Given the description of an element on the screen output the (x, y) to click on. 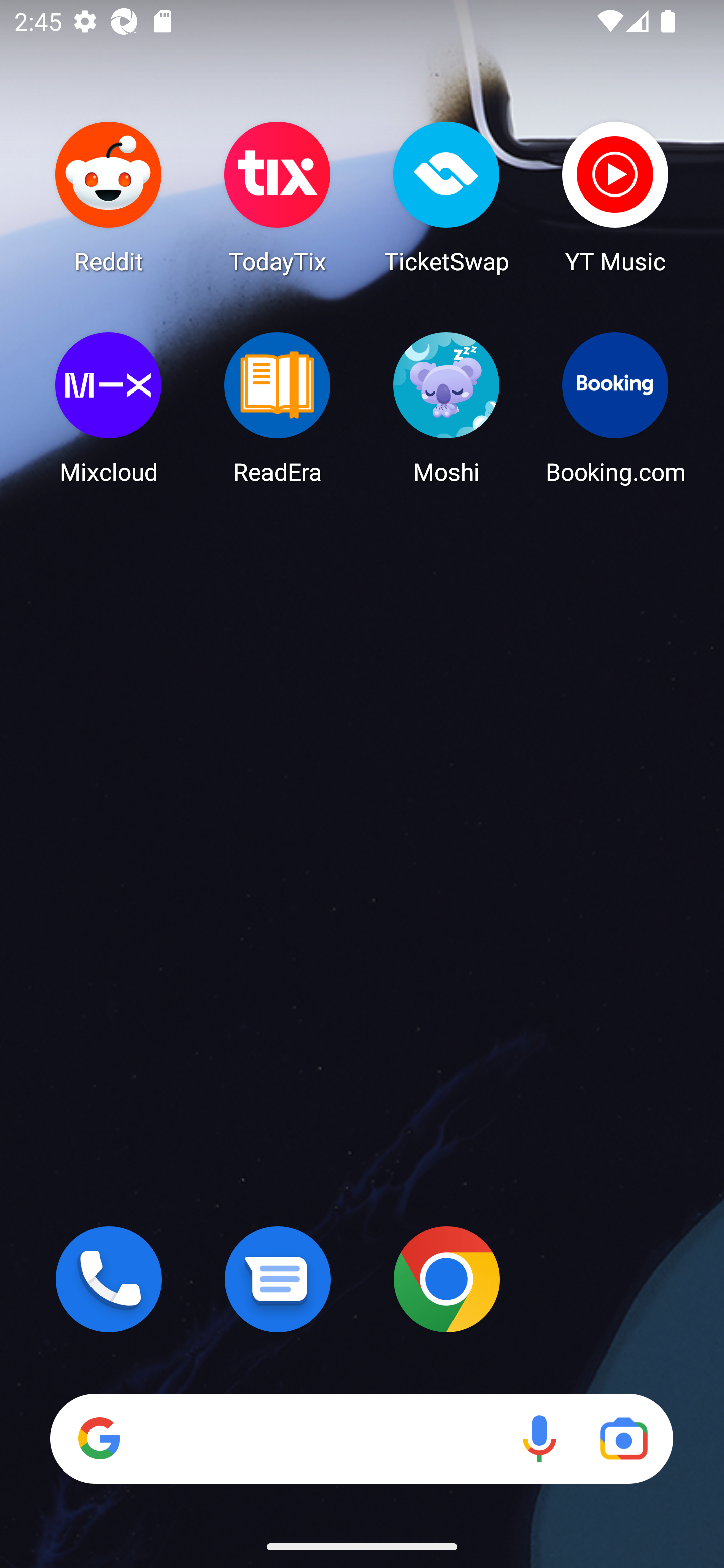
Reddit (108, 196)
TodayTix (277, 196)
TicketSwap (445, 196)
YT Music (615, 196)
Mixcloud (108, 407)
ReadEra (277, 407)
Moshi (445, 407)
Booking.com (615, 407)
Phone (108, 1279)
Messages (277, 1279)
Chrome (446, 1279)
Search Voice search Google Lens (361, 1438)
Voice search (539, 1438)
Google Lens (623, 1438)
